Given the description of an element on the screen output the (x, y) to click on. 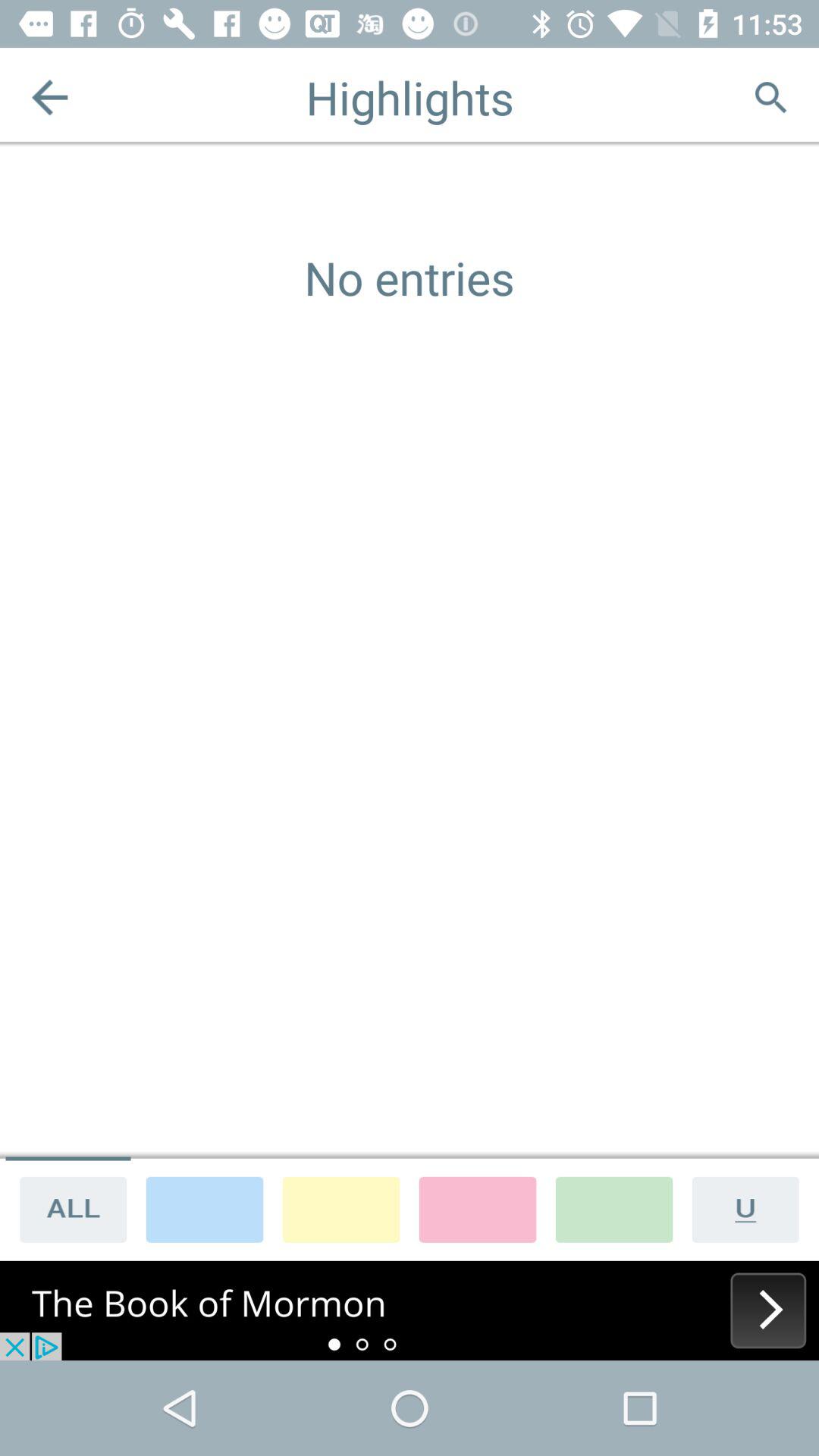
select pink color (477, 1208)
